Given the description of an element on the screen output the (x, y) to click on. 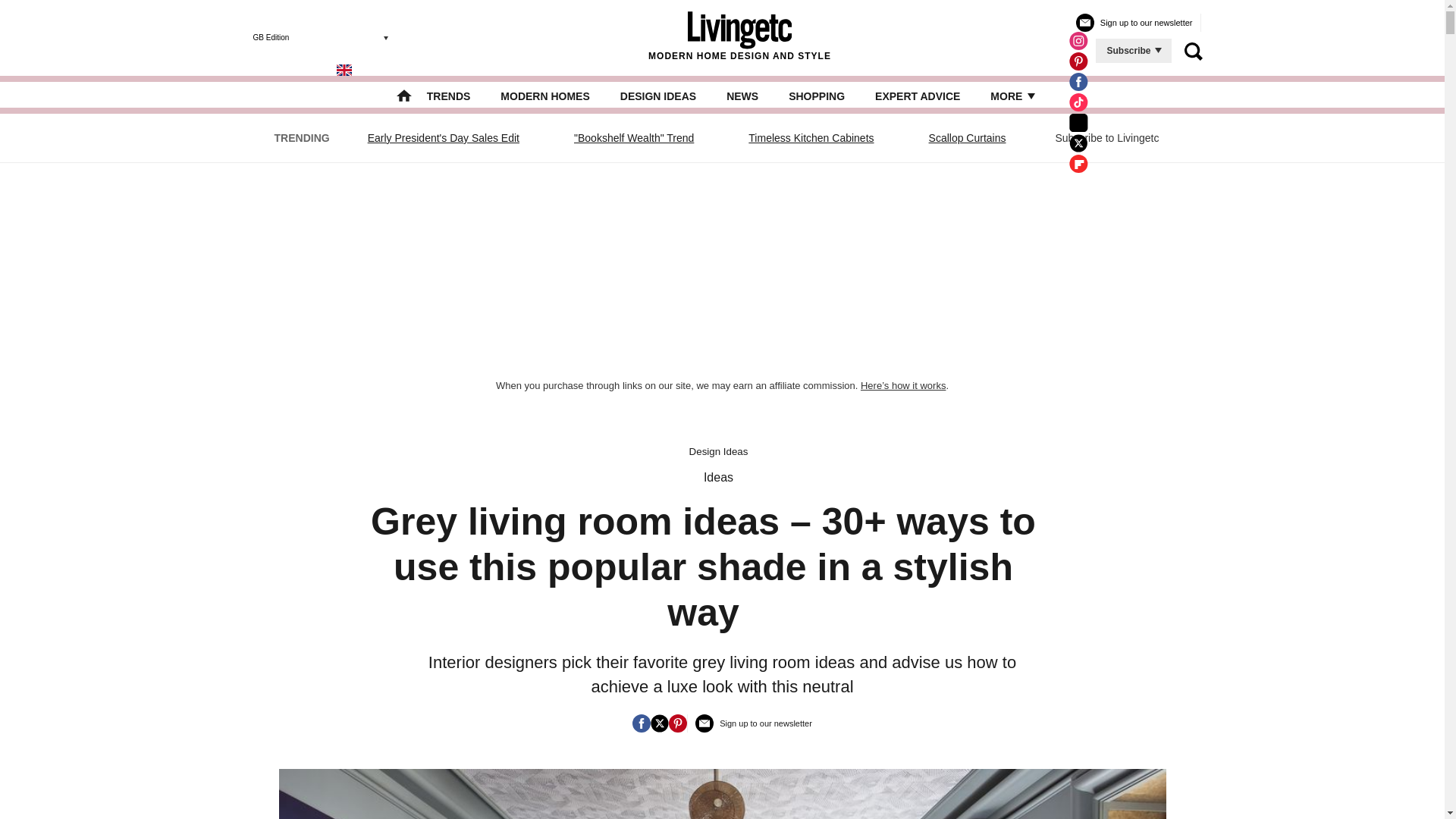
"Bookshelf Wealth" Trend (633, 137)
TRENDS (448, 96)
Sign up to our newsletter (753, 725)
NEWS (742, 96)
MODERN HOMES (544, 96)
Design Ideas (718, 451)
Sign up to our newsletter (1133, 24)
Livingetc (739, 30)
Early President's Day Sales Edit (443, 137)
EXPERT ADVICE (917, 96)
